Given the description of an element on the screen output the (x, y) to click on. 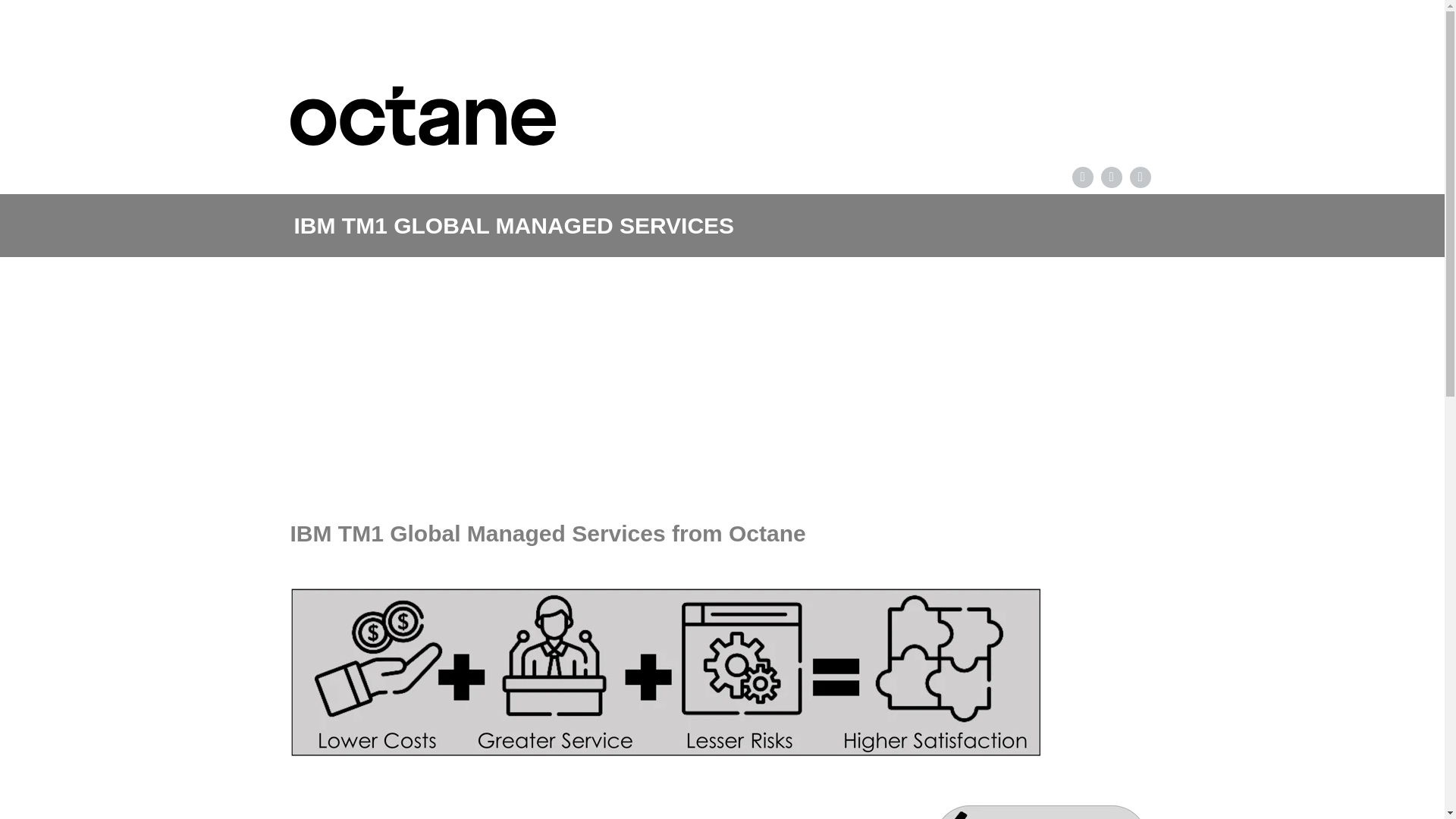
Twitter (1139, 177)
Facebook (1110, 177)
Linked in (1081, 177)
